Given the description of an element on the screen output the (x, y) to click on. 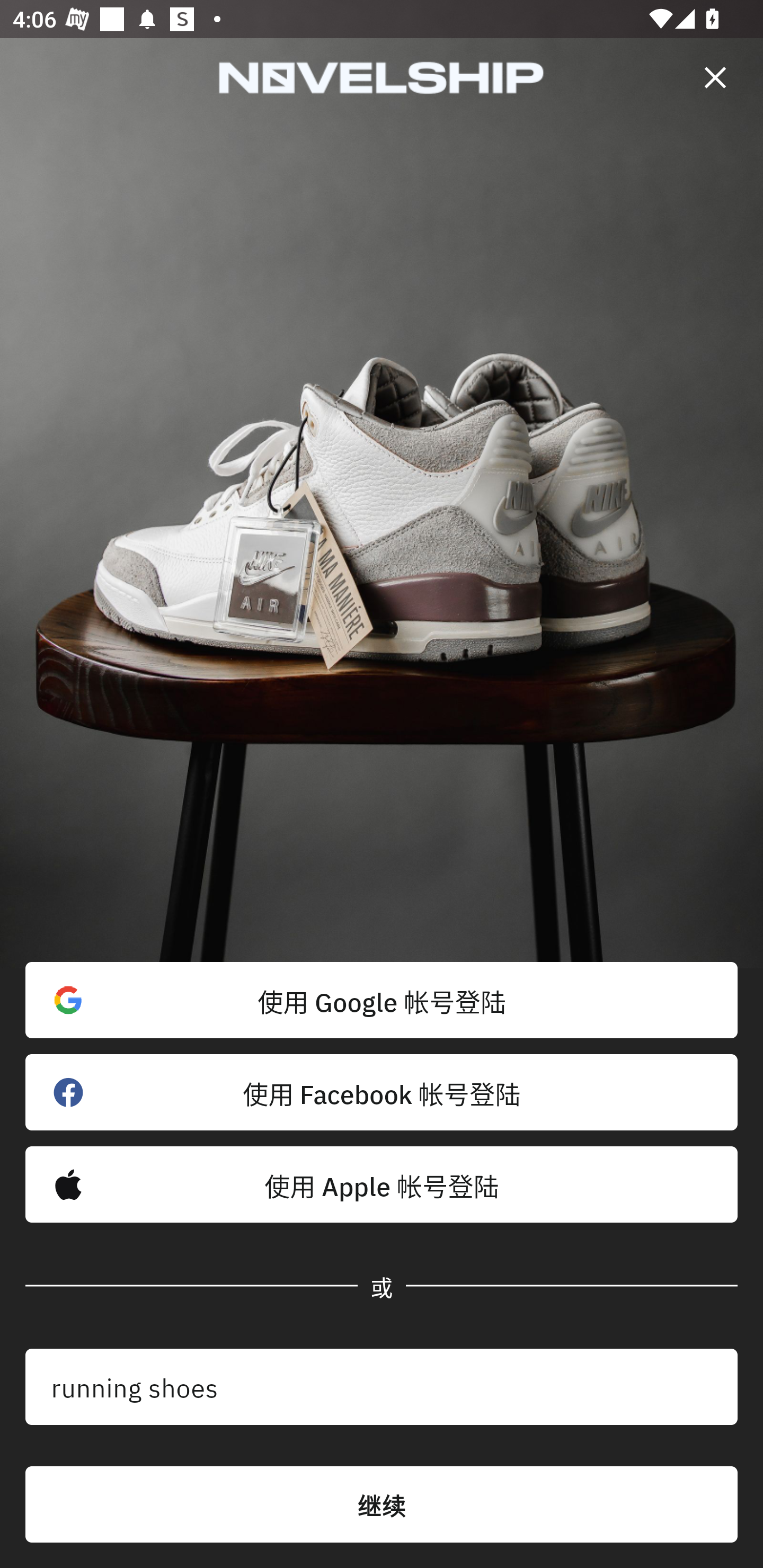
使用 Google 帐号登陆 (381, 1000)
使用 Facebook 帐号登陆 󰈌 (381, 1091)
 使用 Apple 帐号登陆 (381, 1184)
running shoes (381, 1386)
继续 (381, 1504)
